Given the description of an element on the screen output the (x, y) to click on. 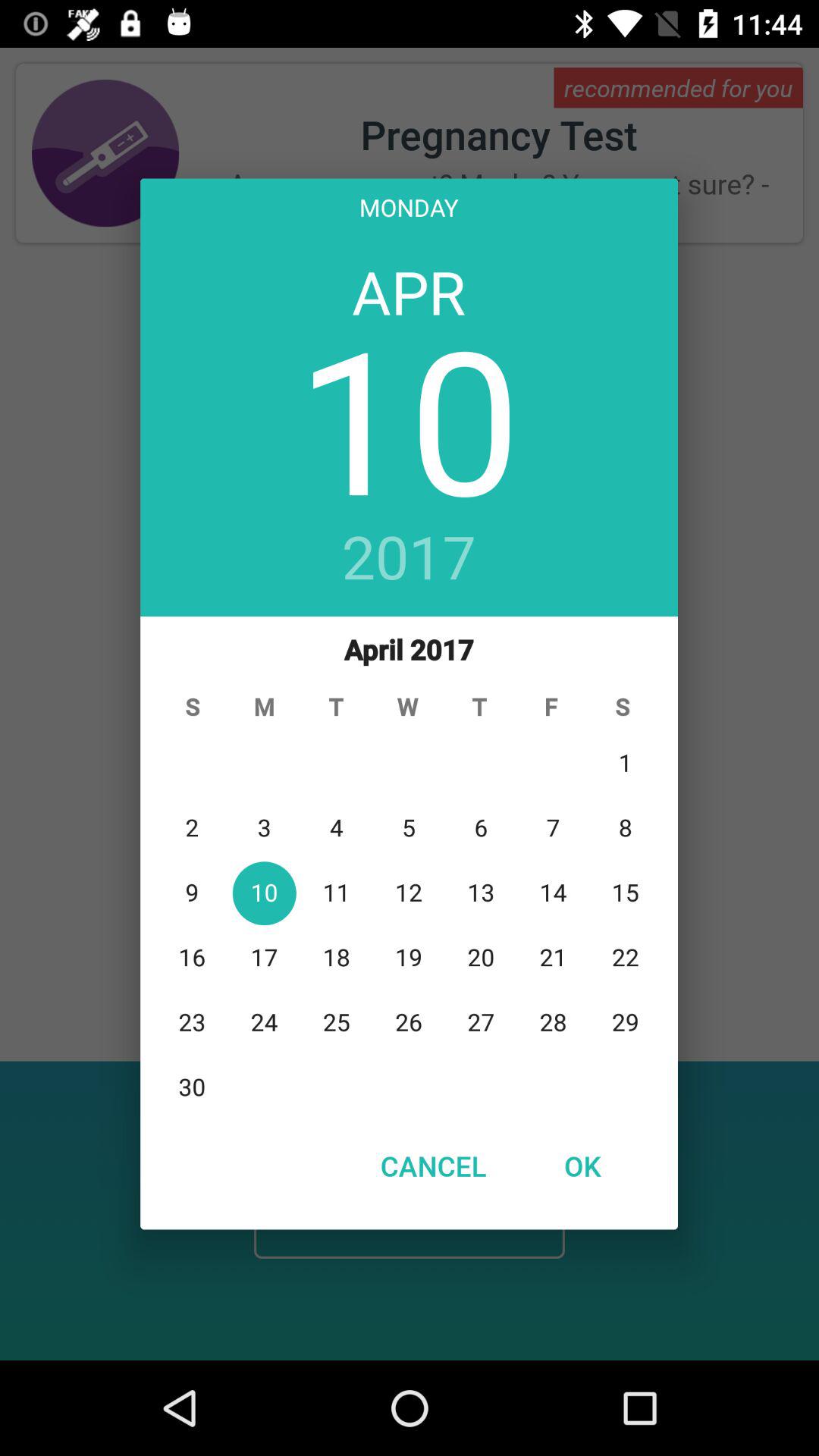
open the icon to the left of ok item (433, 1165)
